Given the description of an element on the screen output the (x, y) to click on. 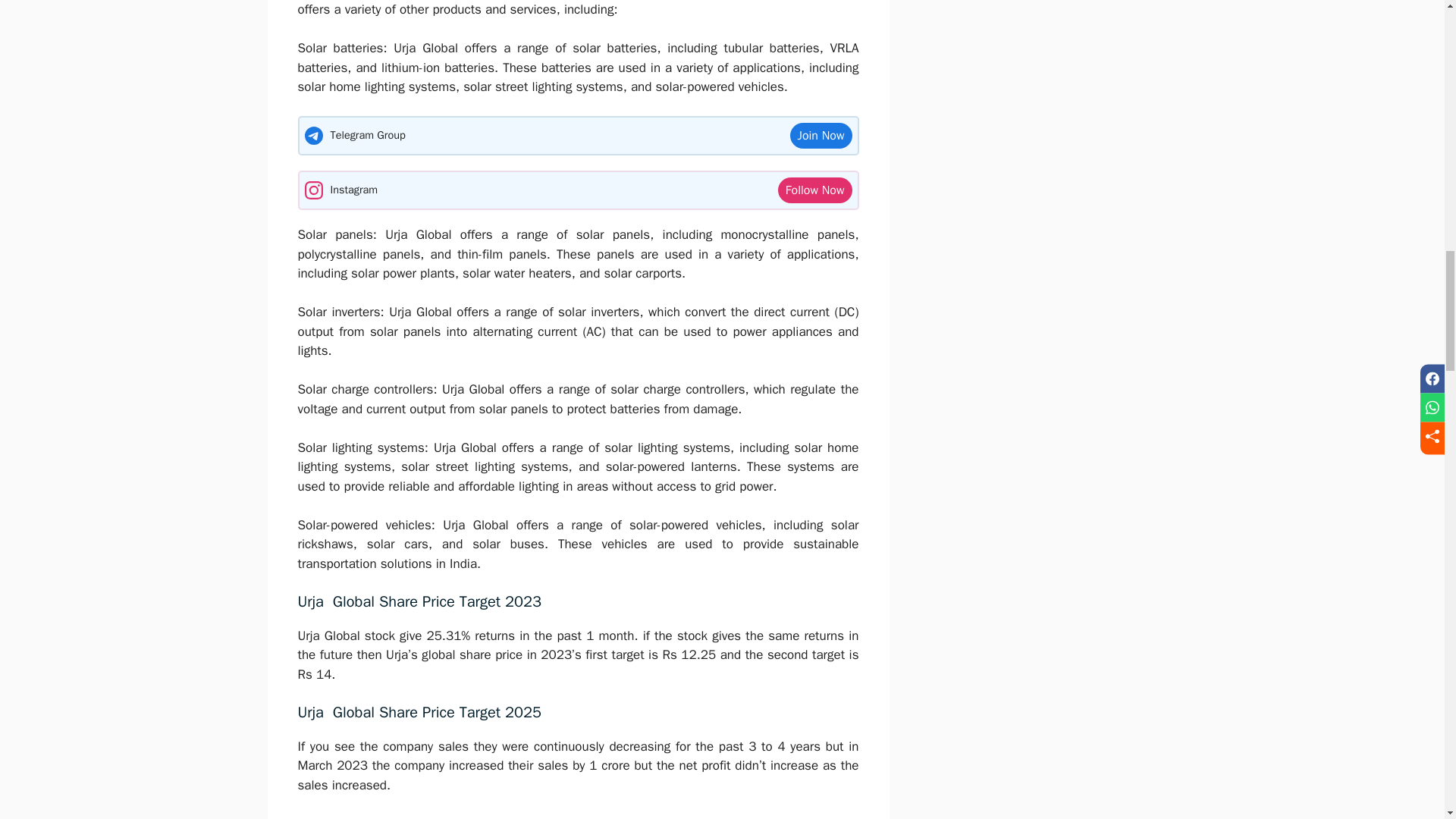
Follow Now (814, 190)
Join Now (820, 135)
